Given the description of an element on the screen output the (x, y) to click on. 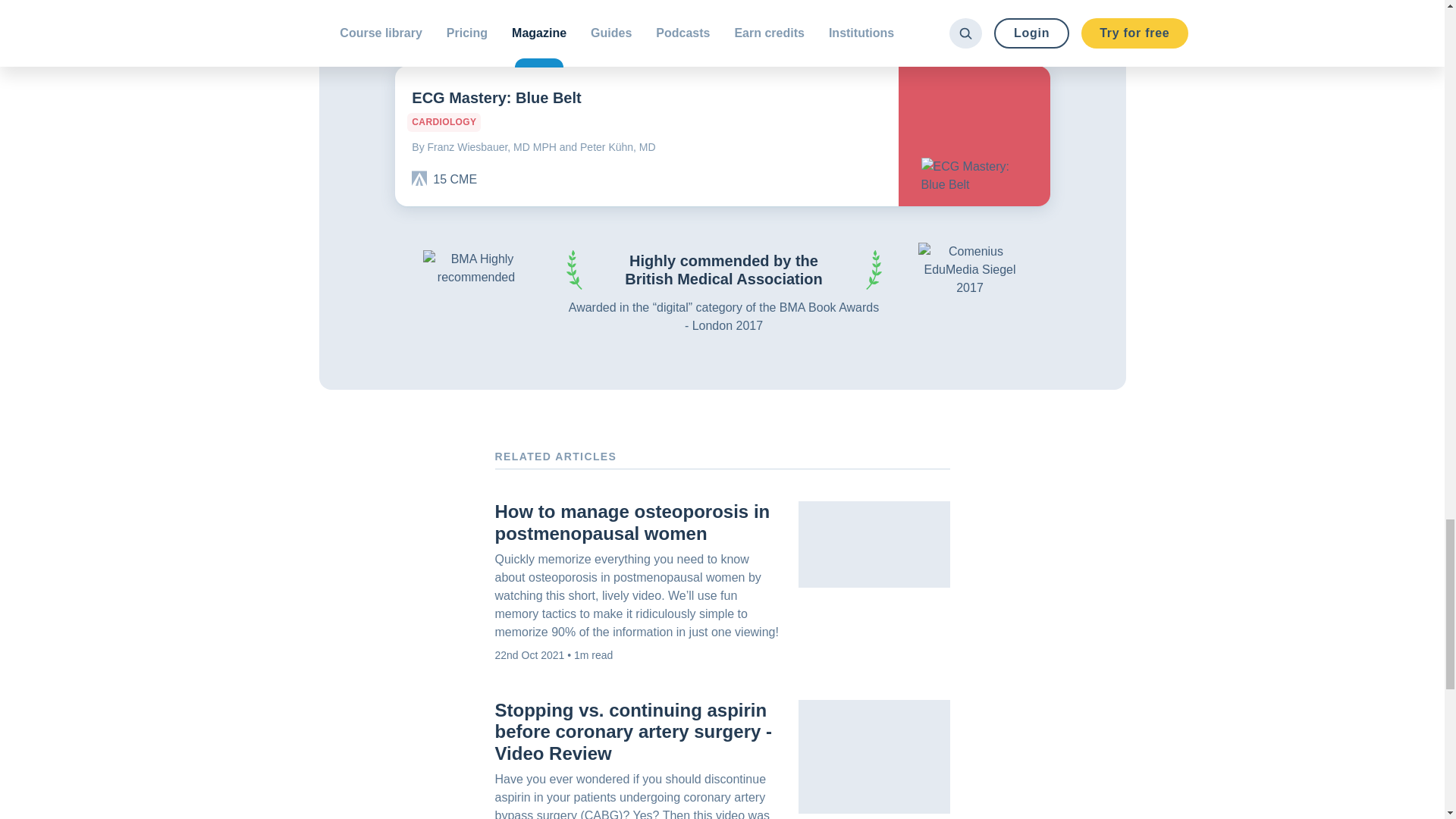
speciality (443, 122)
